Given the description of an element on the screen output the (x, y) to click on. 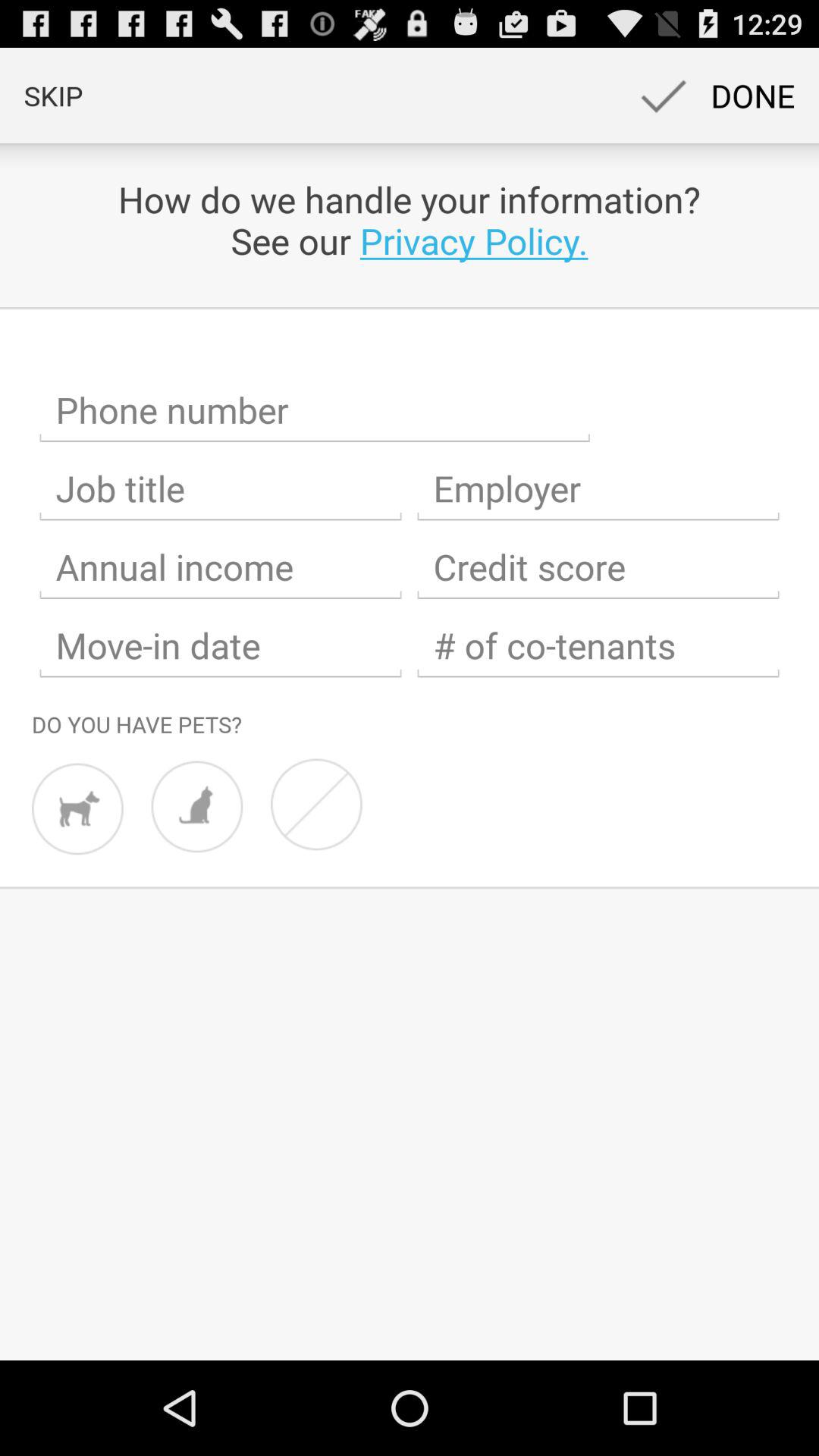
input phone number (314, 410)
